Given the description of an element on the screen output the (x, y) to click on. 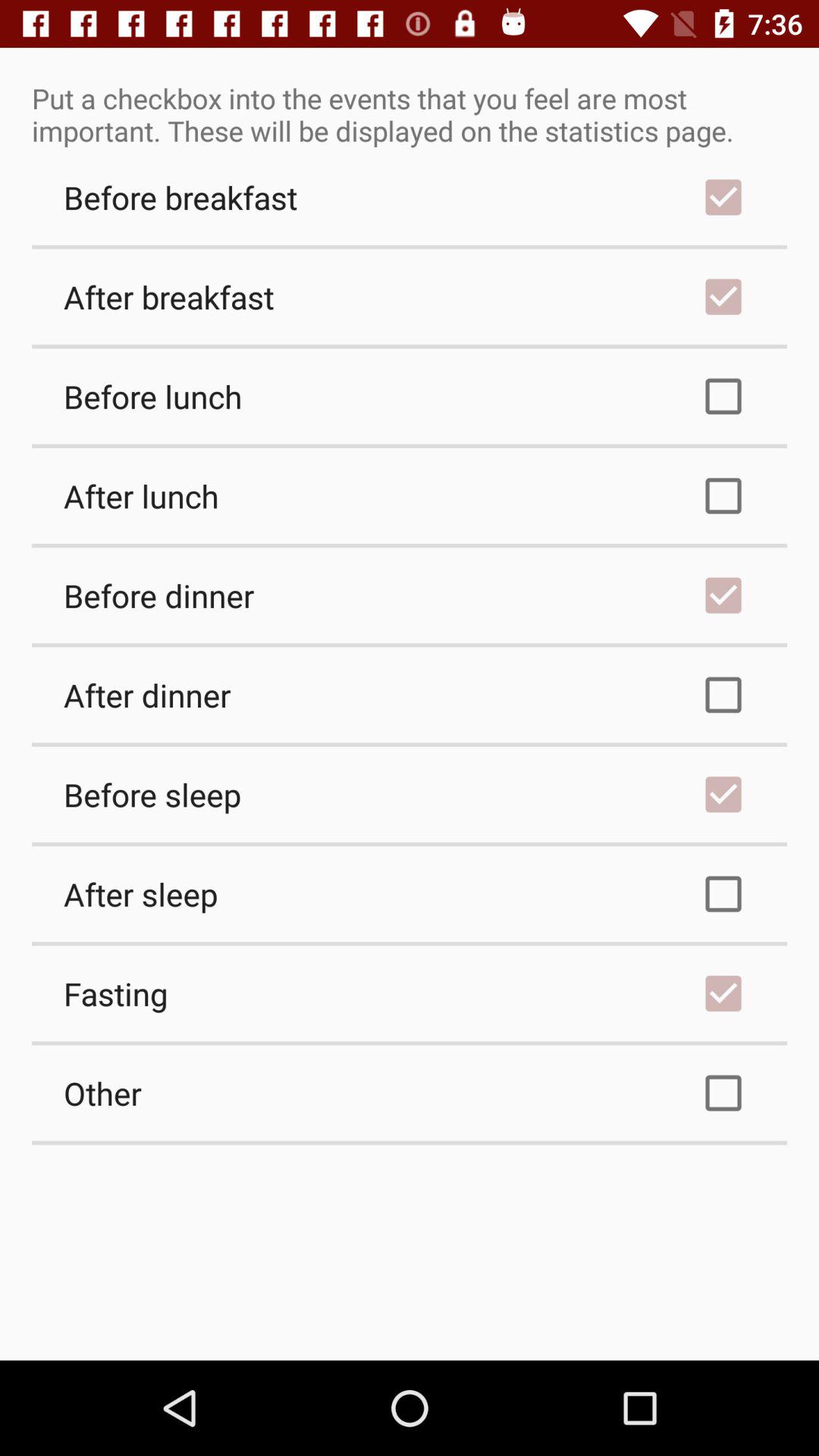
scroll to the other item (409, 1092)
